Given the description of an element on the screen output the (x, y) to click on. 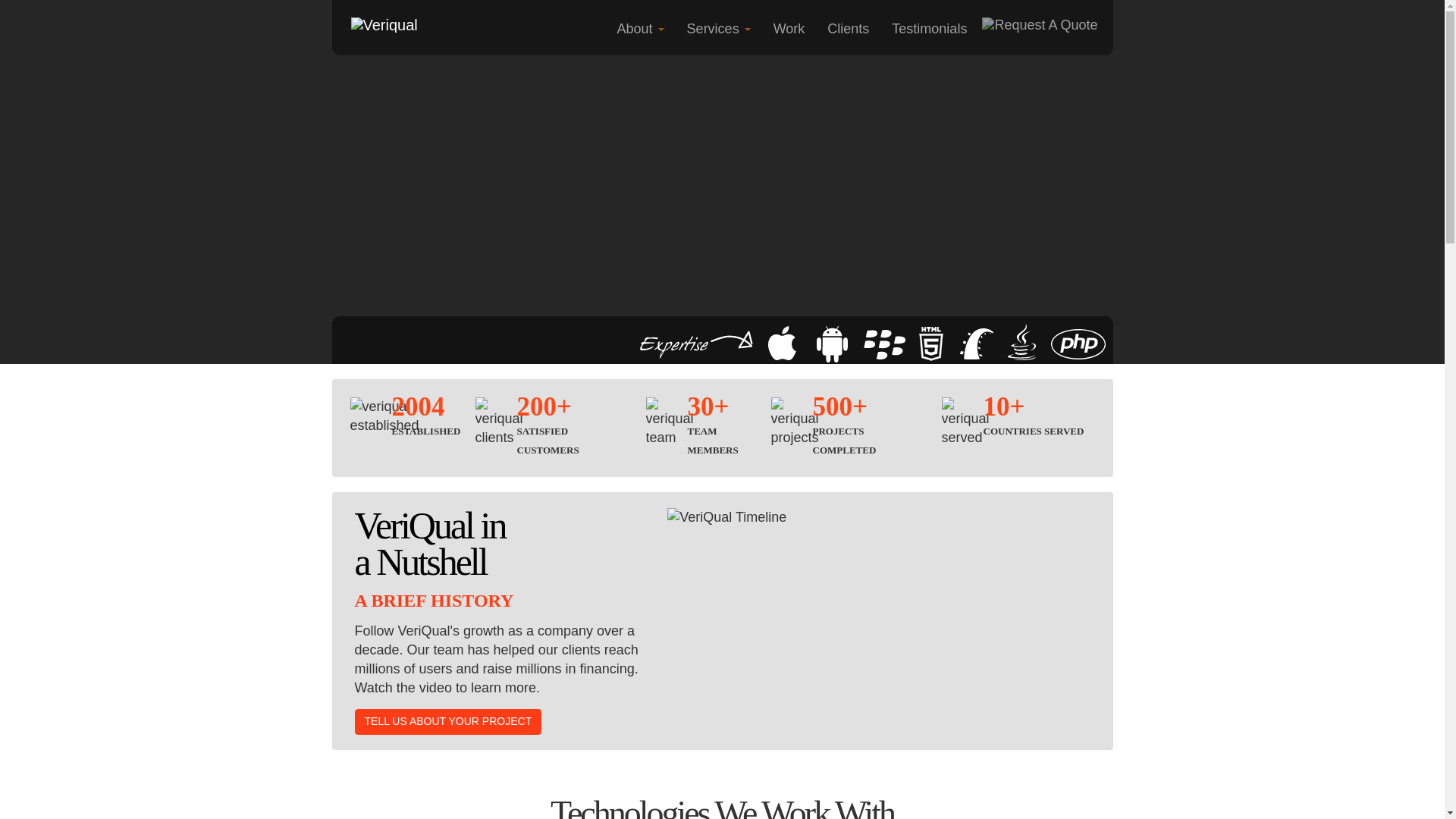
Veriqual (383, 24)
TELL US ABOUT YOUR PROJECT (448, 721)
Clients (847, 28)
About (640, 28)
Services (718, 28)
Work (788, 28)
Testimonials (929, 28)
